Given the description of an element on the screen output the (x, y) to click on. 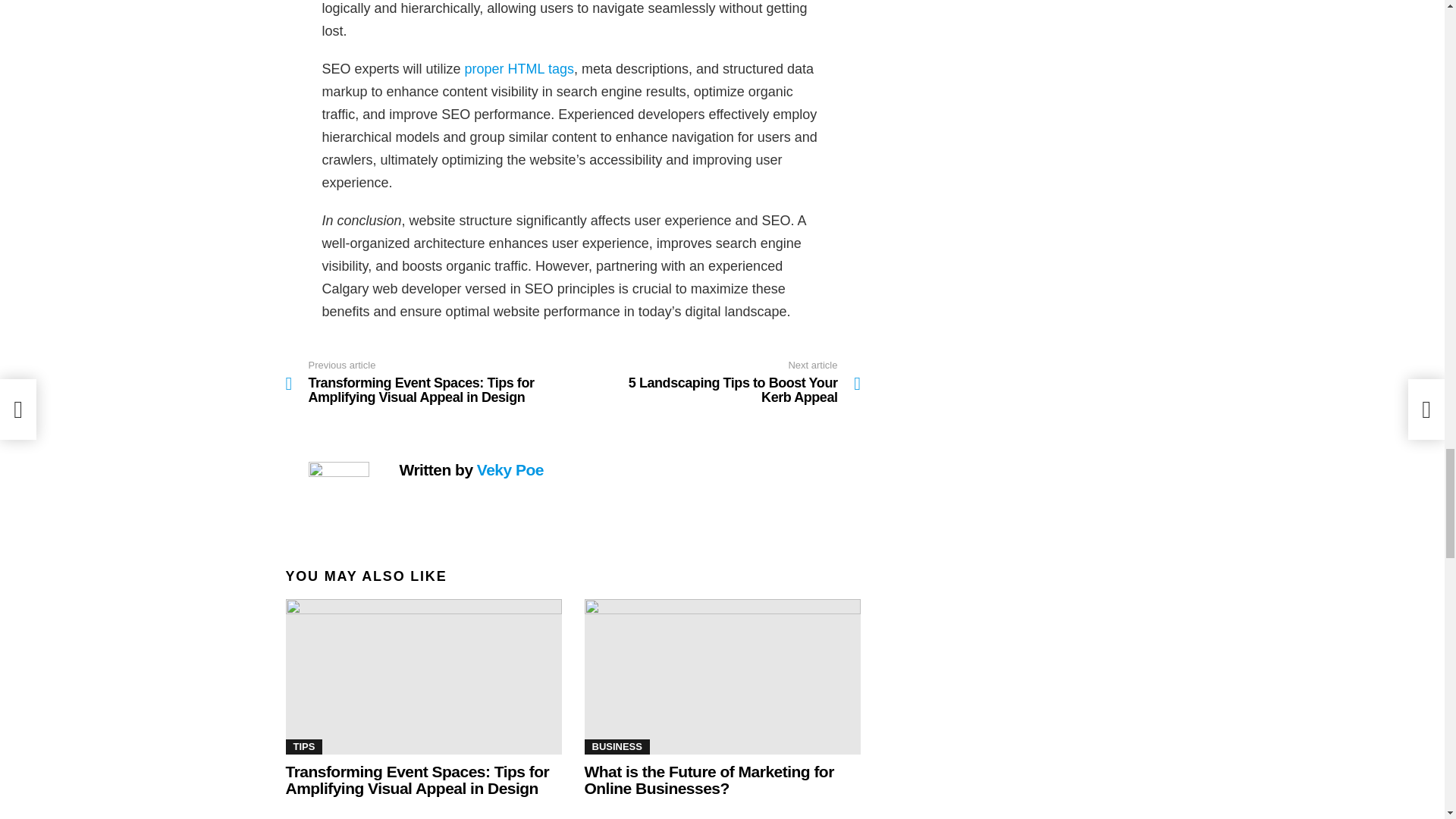
BUSINESS (616, 746)
TIPS (303, 746)
What is the Future of Marketing for Online Businesses? (707, 779)
Veky Poe (510, 469)
proper HTML tags (716, 382)
What is the Future of Marketing for Online Businesses? (518, 68)
